Given the description of an element on the screen output the (x, y) to click on. 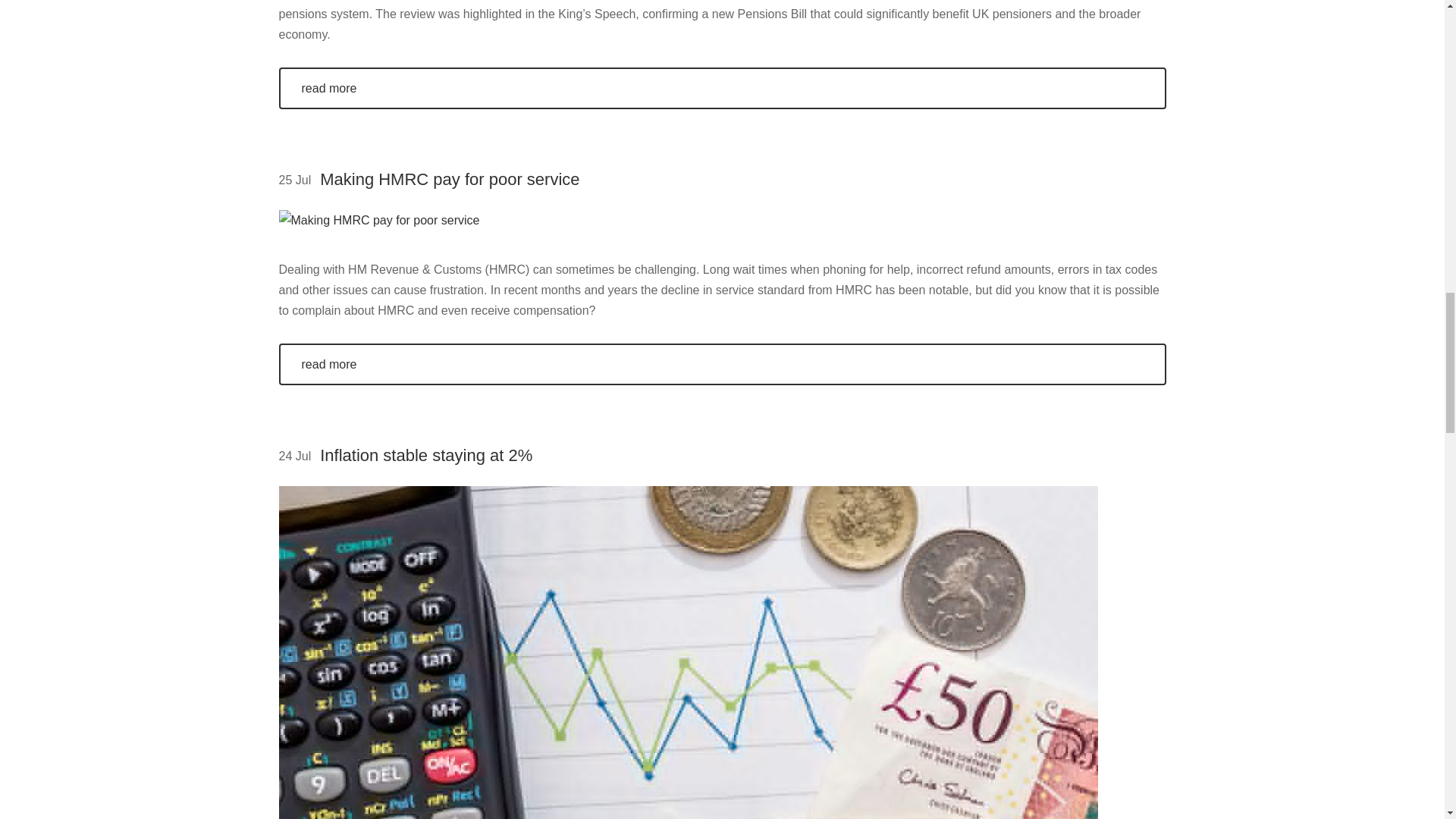
read more (722, 363)
Making HMRC pay for poor service (449, 179)
read more (722, 87)
